Given the description of an element on the screen output the (x, y) to click on. 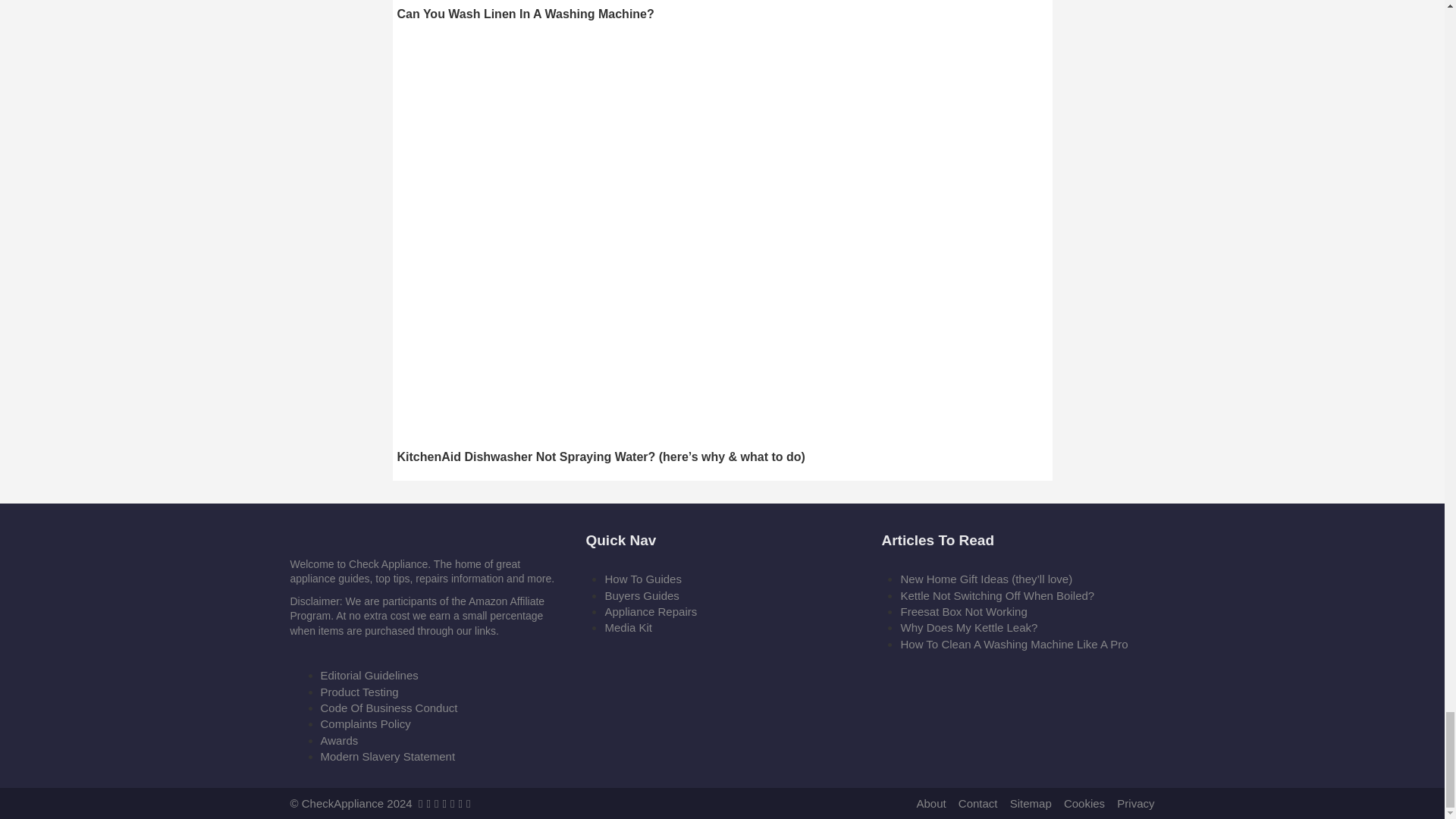
Can You Wash Linen In A Washing Machine? (722, 11)
